Given the description of an element on the screen output the (x, y) to click on. 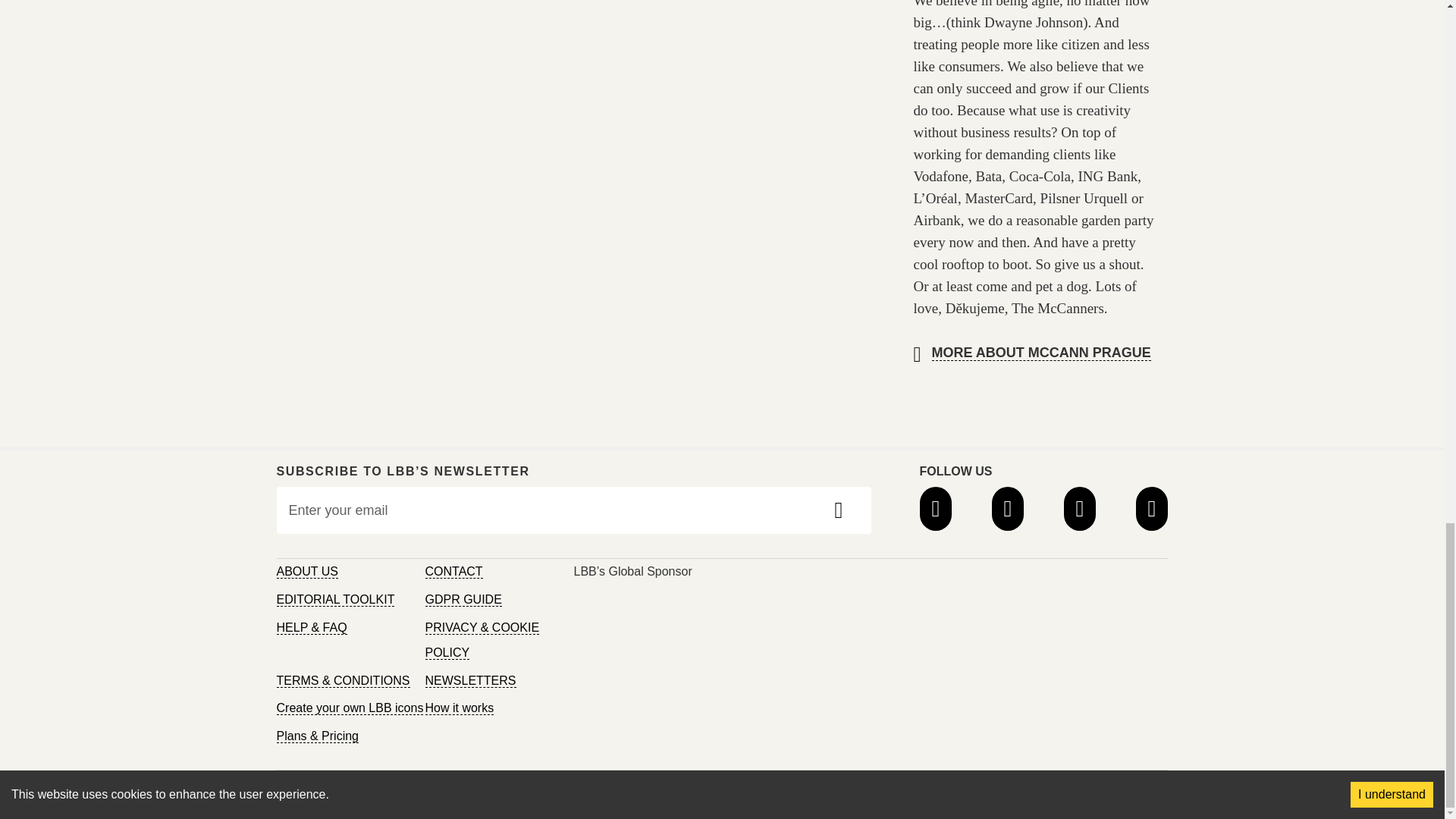
MORE ABOUT MCCANN PRAGUE (1040, 352)
